Given the description of an element on the screen output the (x, y) to click on. 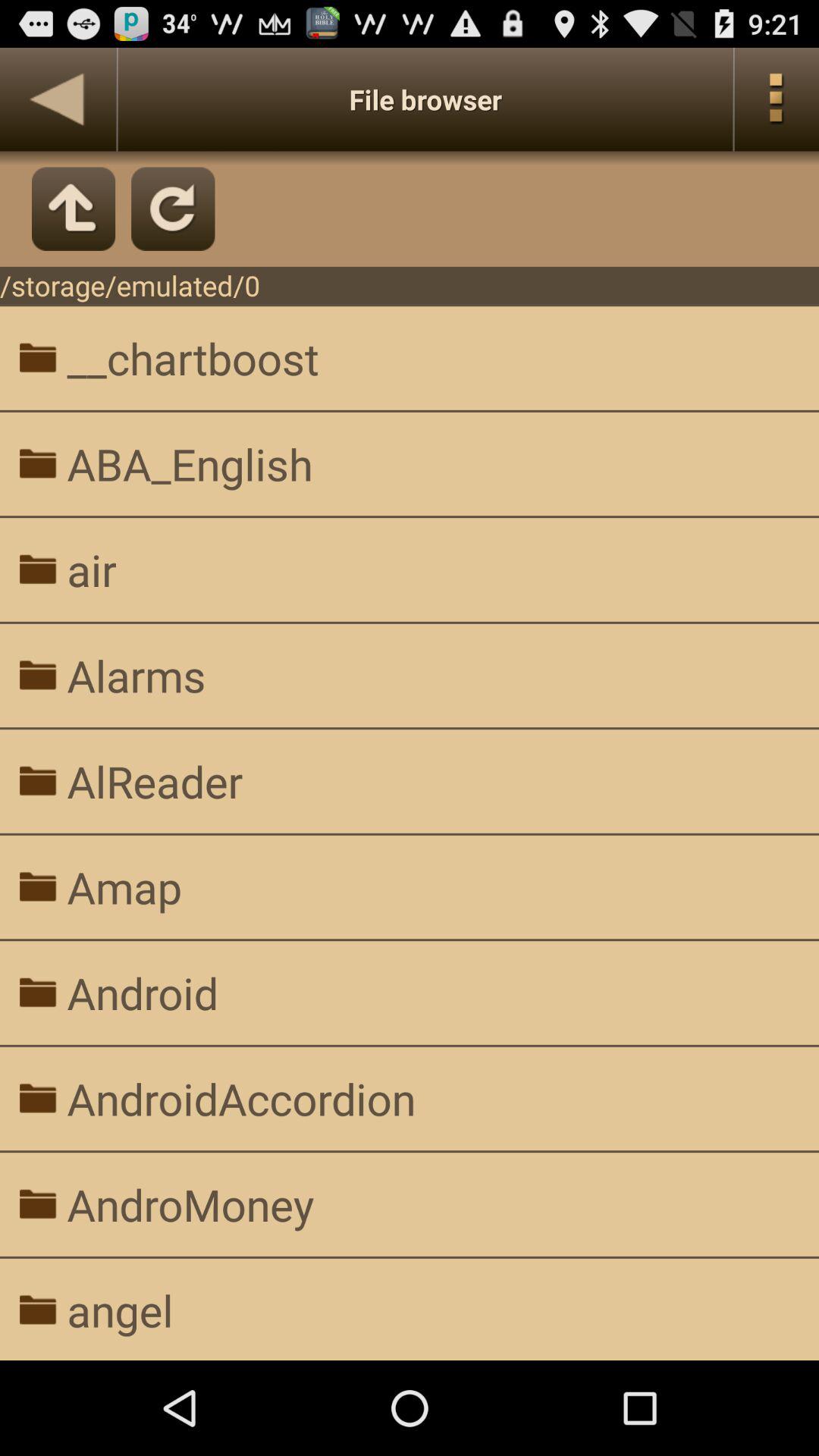
additional menu options (776, 99)
